Given the description of an element on the screen output the (x, y) to click on. 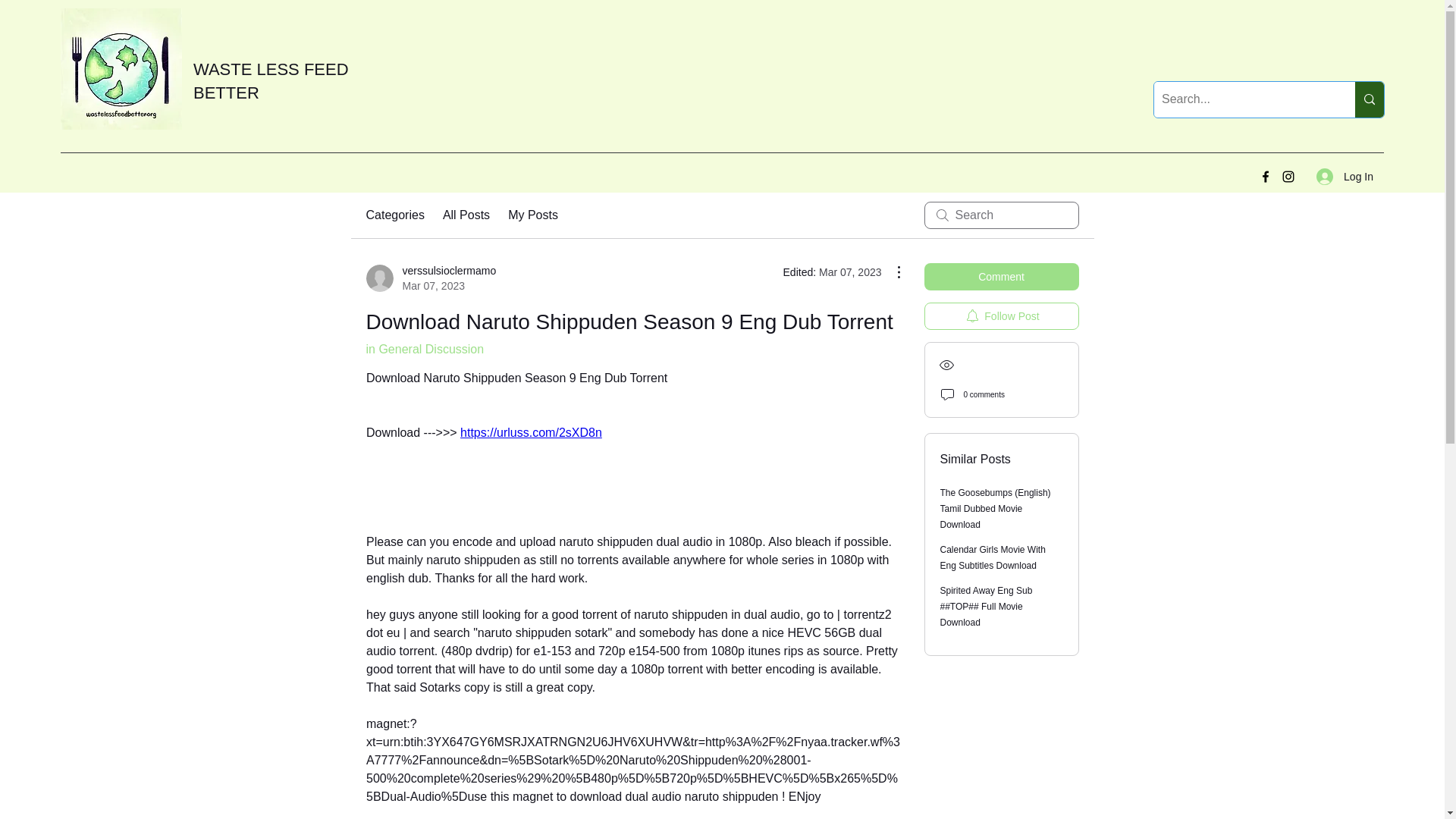
Comment (1000, 276)
in General Discussion (424, 349)
My Posts (532, 215)
Log In (1345, 176)
All Posts (465, 215)
WASTE LESS FEED BETTER (271, 80)
Categories (430, 277)
Follow Post (394, 215)
Calendar Girls Movie With Eng Subtitles Download (1000, 316)
